Given the description of an element on the screen output the (x, y) to click on. 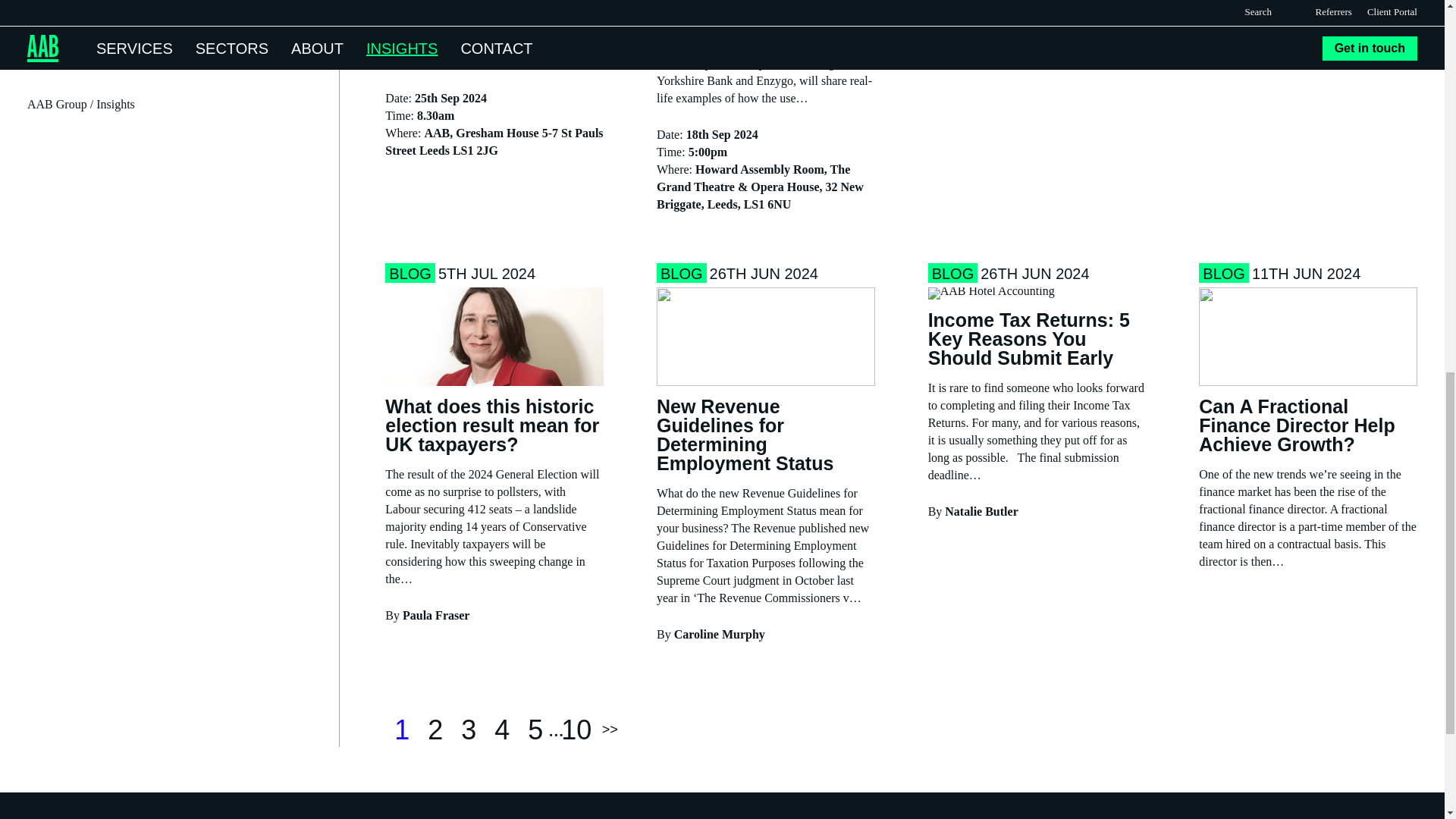
Page 10 (575, 729)
Page 5 (534, 729)
Page 2 (435, 729)
Page 4 (501, 729)
Page 3 (467, 729)
